Given the description of an element on the screen output the (x, y) to click on. 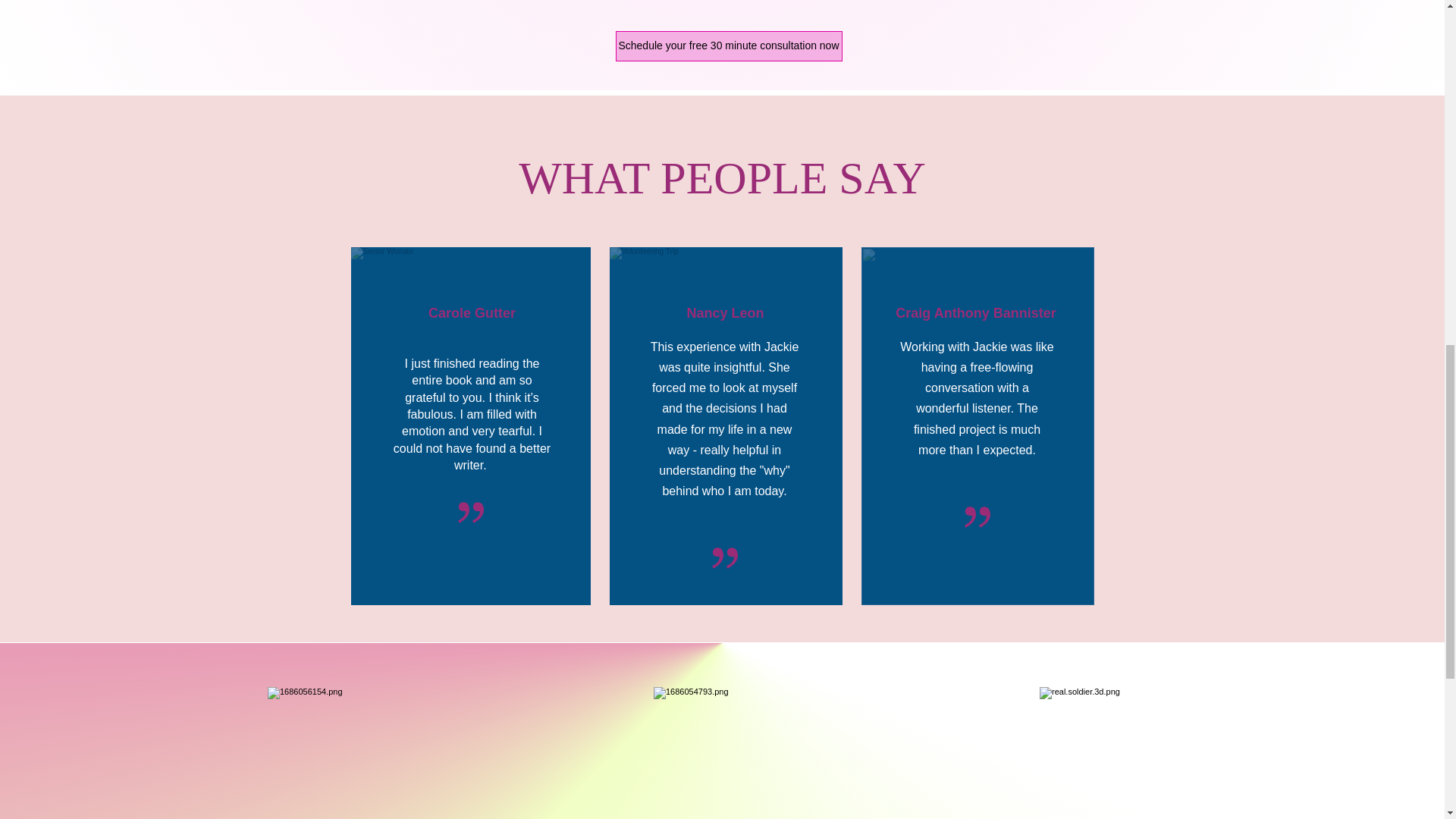
Schedule your free 30-minute consultation now! (596, 152)
Go to Packages and Pricing (891, 152)
Schedule your free 30 minute consultation now (729, 46)
WHAT PEOPLE SAY (722, 178)
